Given the description of an element on the screen output the (x, y) to click on. 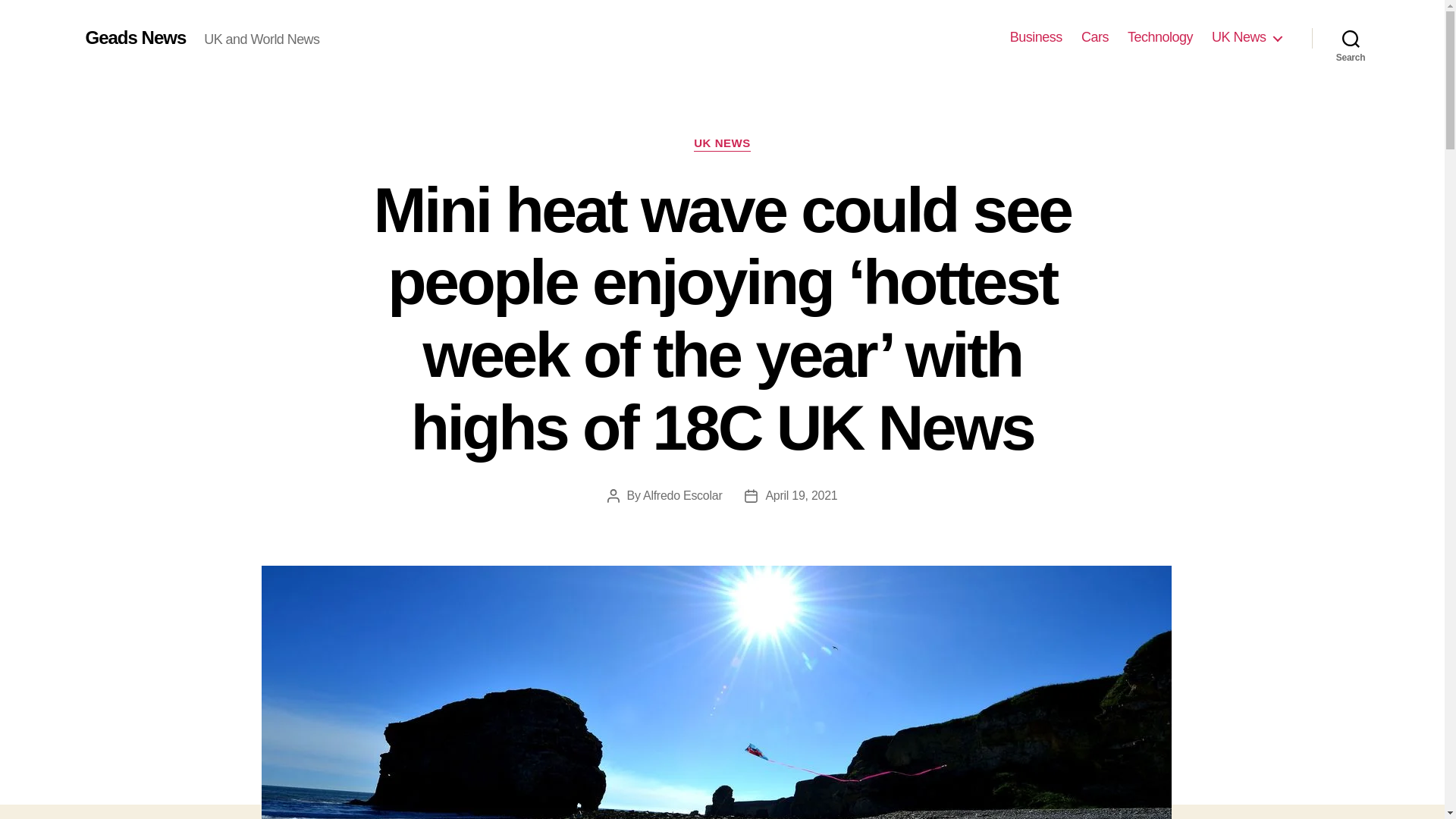
Technology (1159, 37)
Alfredo Escolar (682, 495)
Business (1036, 37)
Cars (1094, 37)
Geads News (135, 37)
April 19, 2021 (801, 495)
Search (1350, 37)
UK News (1246, 37)
UK NEWS (722, 143)
